Given the description of an element on the screen output the (x, y) to click on. 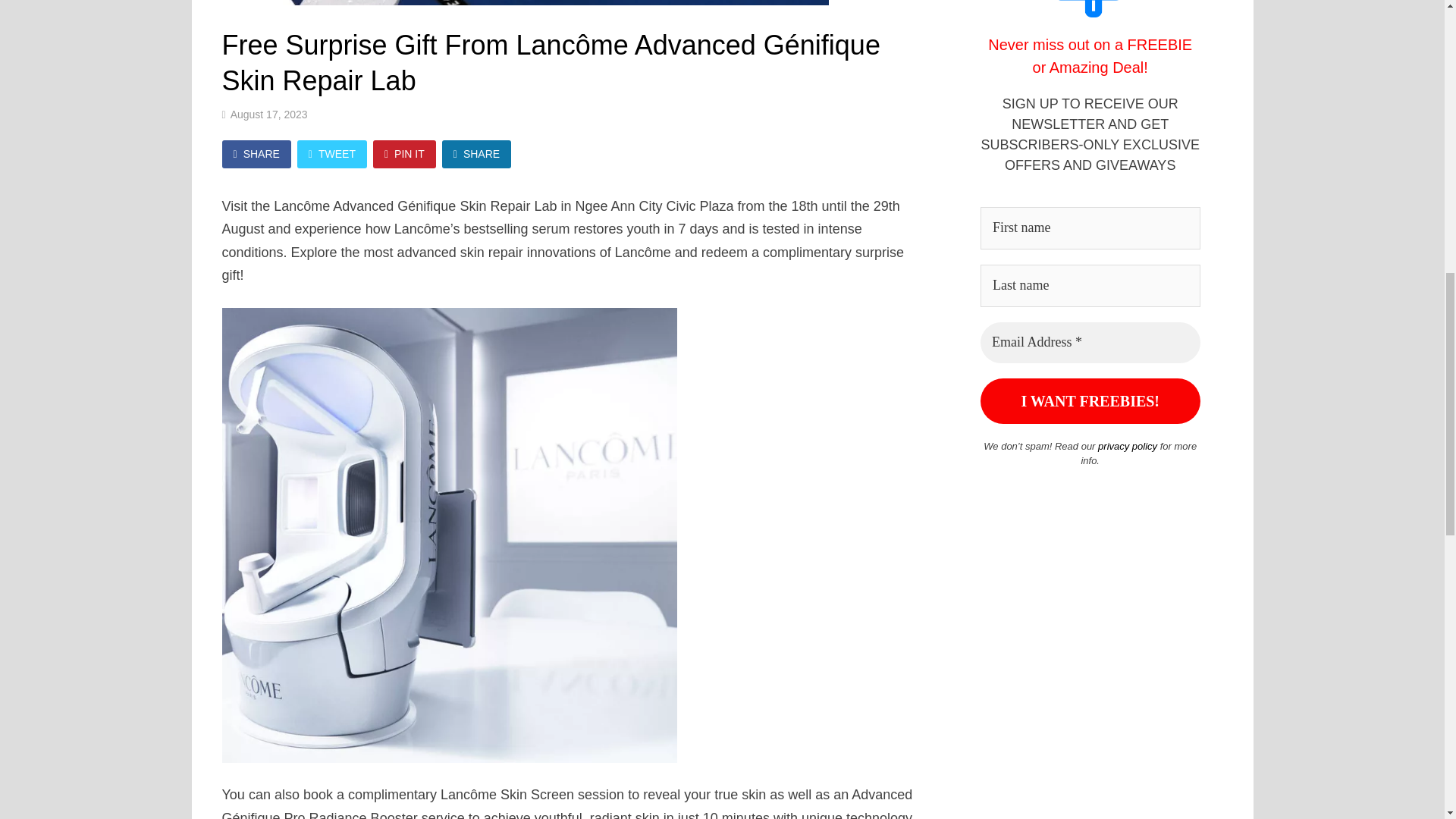
Last name (1089, 285)
First name (1089, 228)
Email Address (1089, 342)
I Want Freebies! (1089, 401)
